Given the description of an element on the screen output the (x, y) to click on. 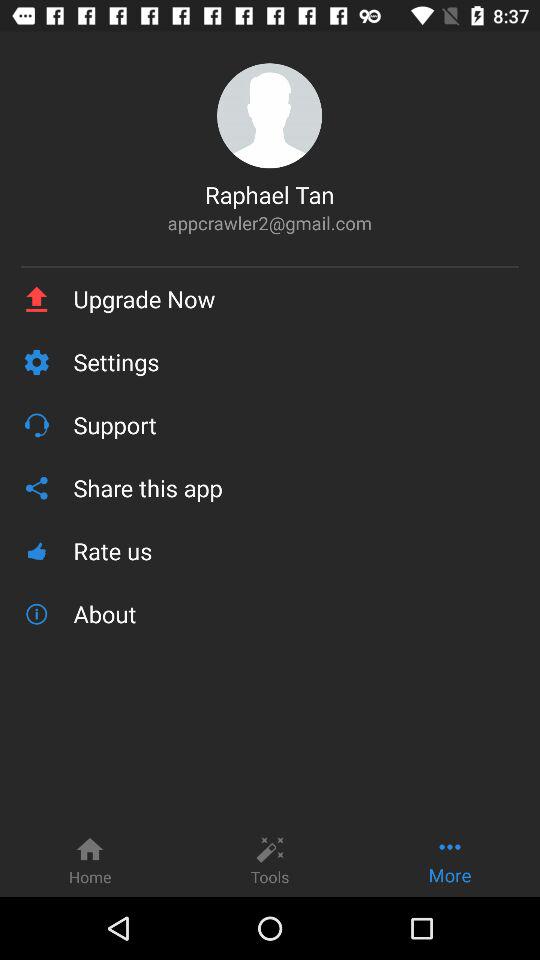
open the icon above the share this app (296, 424)
